Given the description of an element on the screen output the (x, y) to click on. 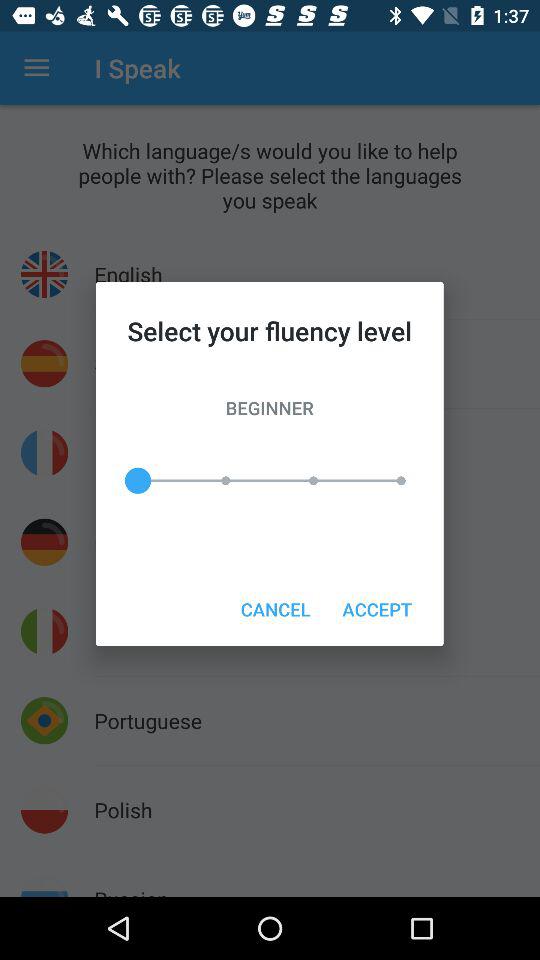
open item to the left of the accept icon (275, 608)
